Given the description of an element on the screen output the (x, y) to click on. 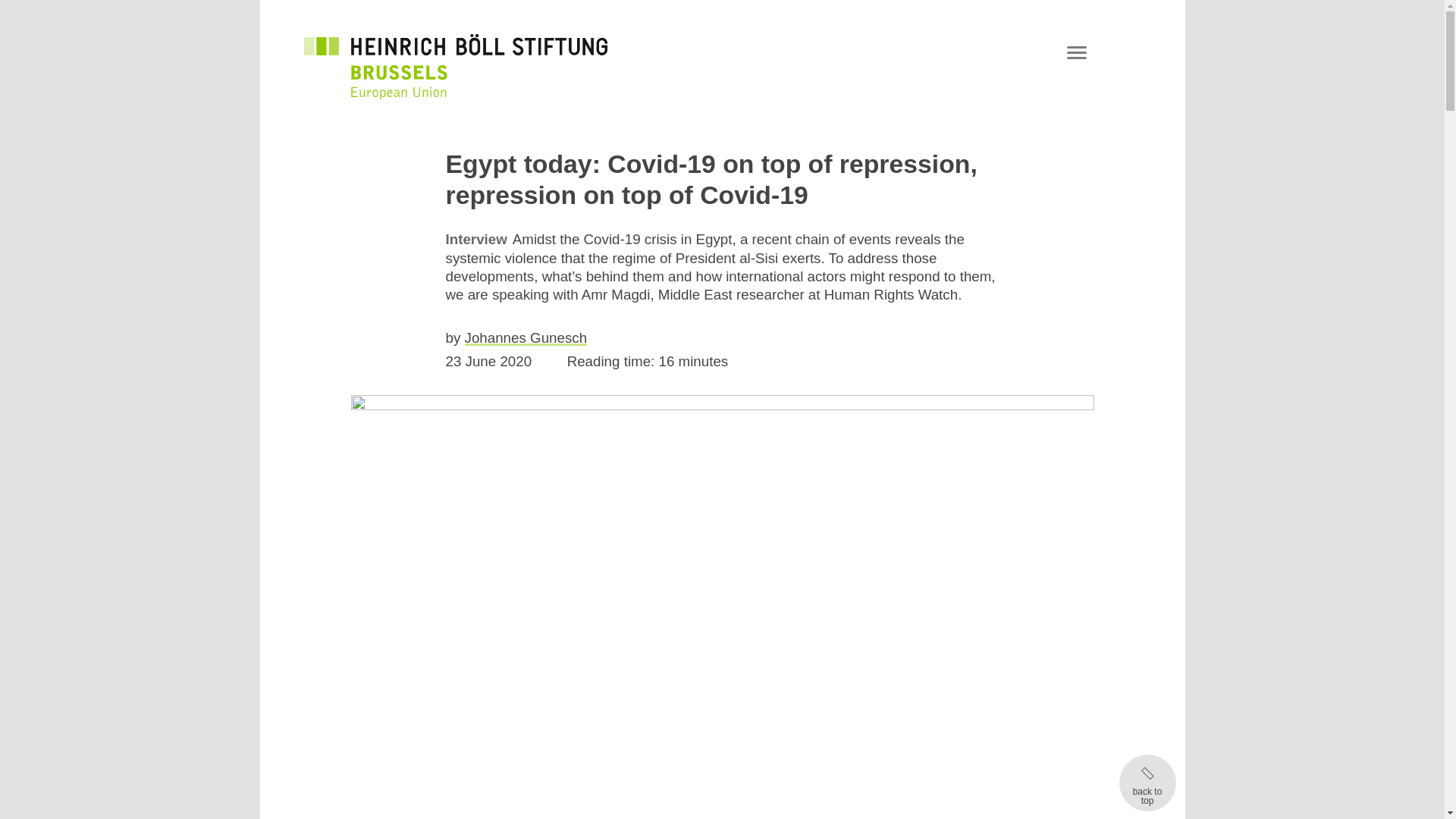
Home (454, 65)
Johannes Gunesch (526, 337)
